Given the description of an element on the screen output the (x, y) to click on. 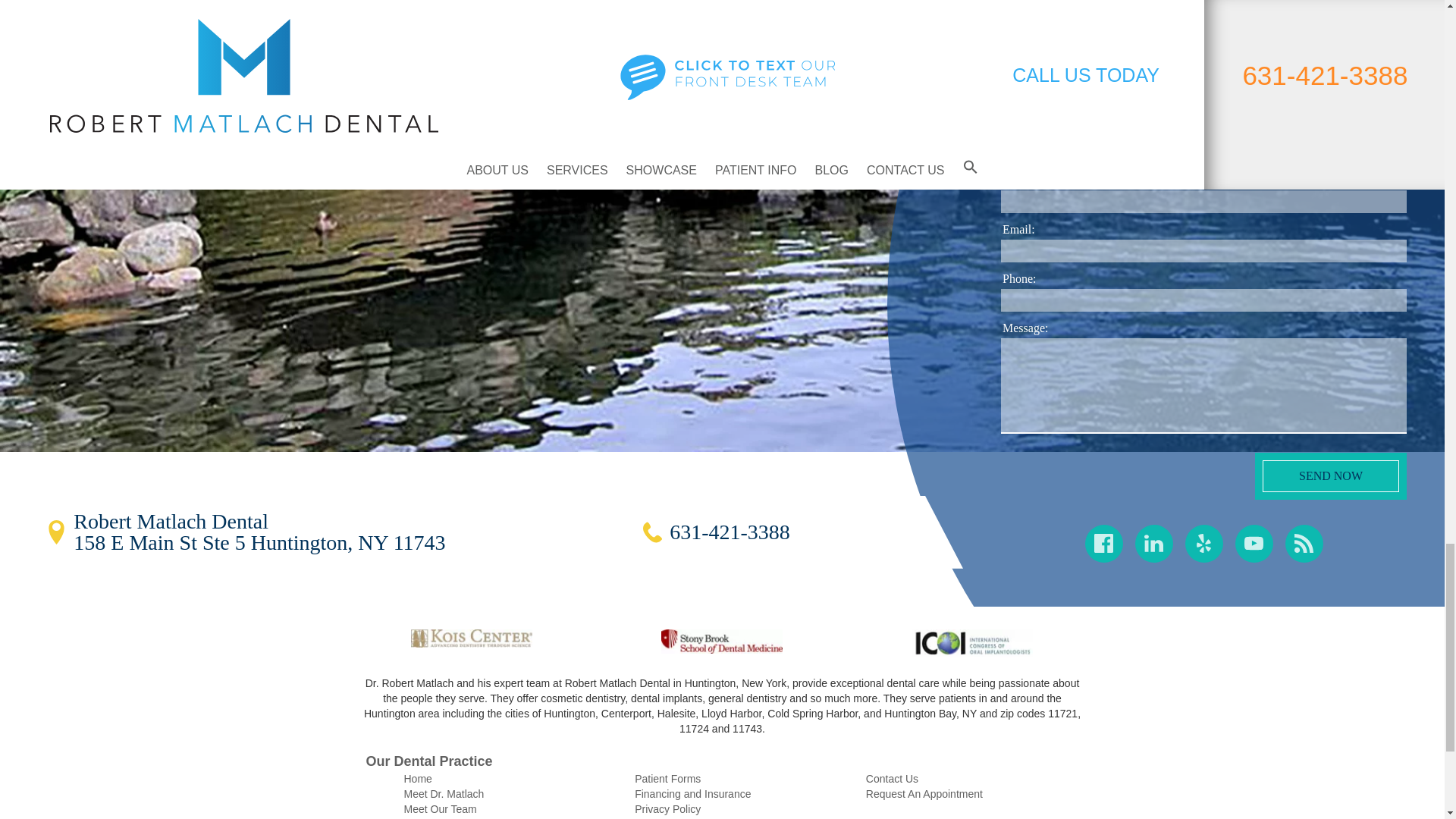
Send Now (1330, 476)
